Given the description of an element on the screen output the (x, y) to click on. 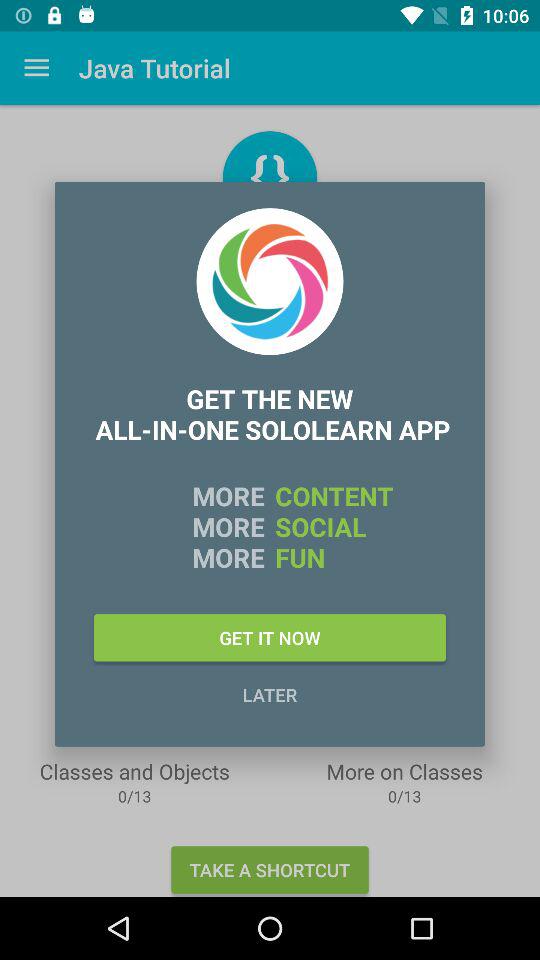
choose icon above later item (269, 637)
